Given the description of an element on the screen output the (x, y) to click on. 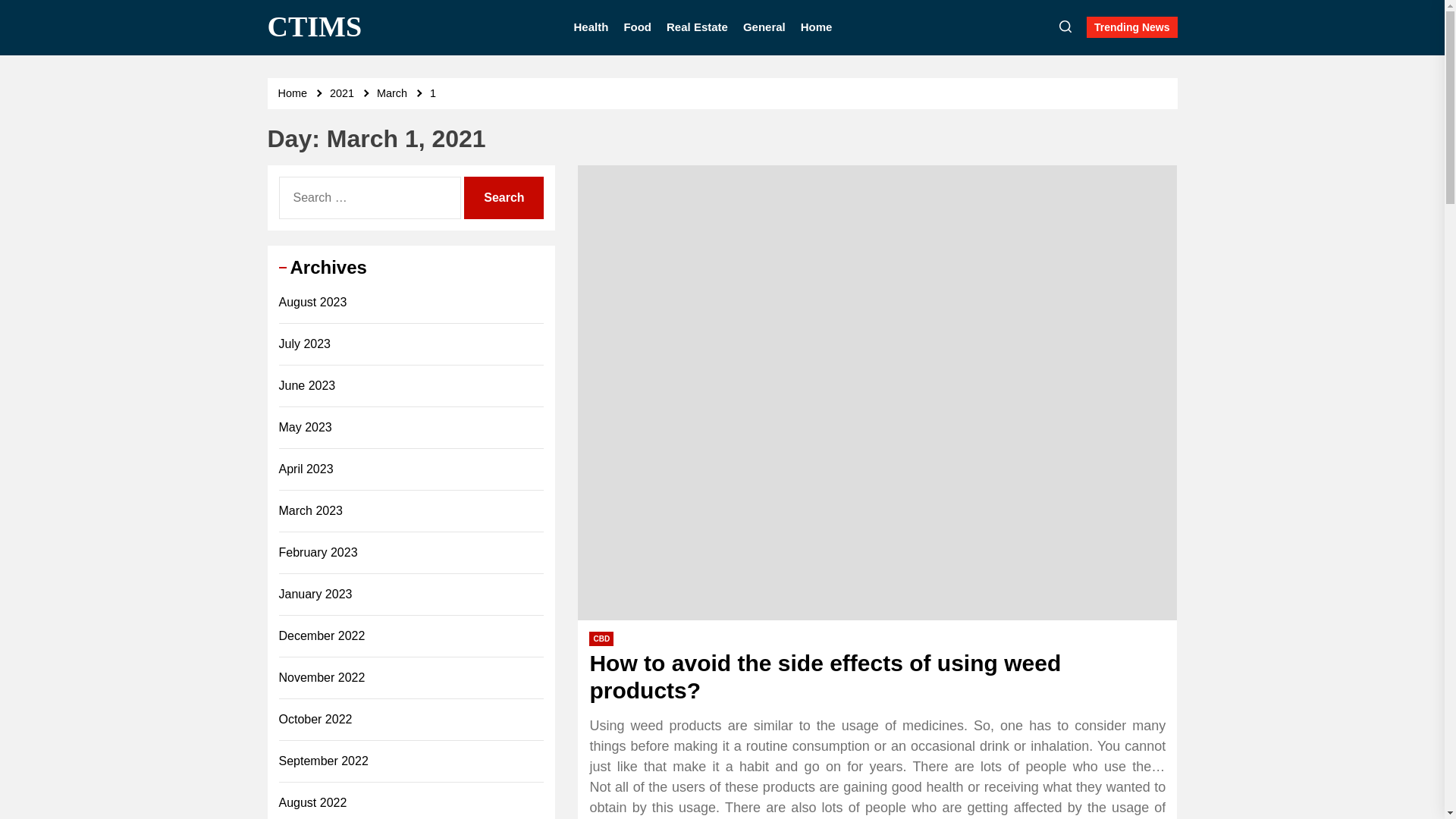
Home (294, 92)
Search (503, 197)
Real Estate (697, 27)
General (764, 27)
Search (503, 197)
CTIMS (313, 27)
How to avoid the side effects of using weed products? (825, 676)
Trending News (1131, 26)
